Given the description of an element on the screen output the (x, y) to click on. 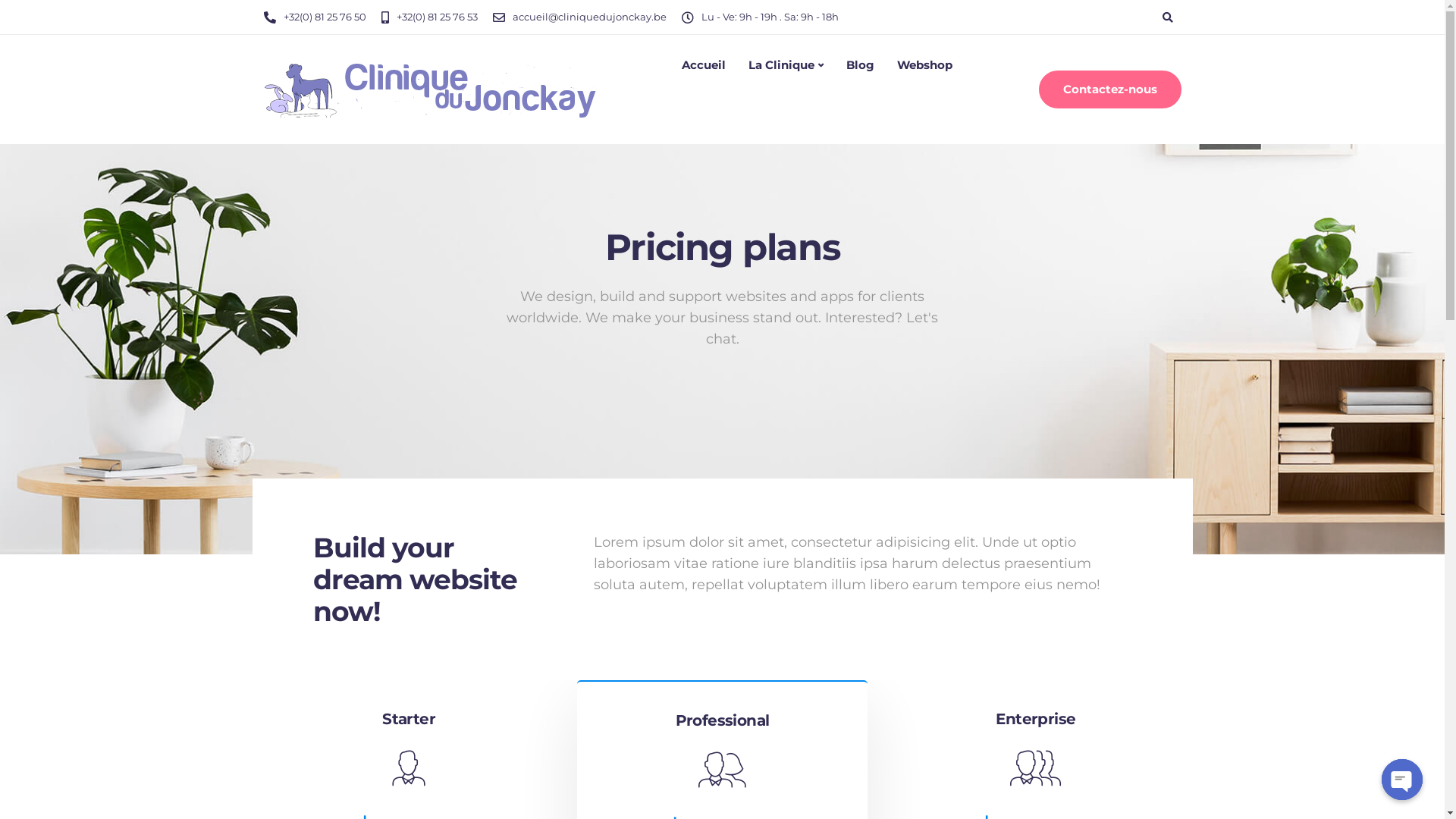
Webshop Element type: text (924, 64)
Accueil Element type: text (703, 64)
+32(0) 81 25 76 53 Element type: text (439, 16)
+32(0) 81 25 76 50 Element type: text (328, 16)
accueil@cliniquedujonckay.be Element type: text (593, 16)
Blog Element type: text (859, 64)
La Clinique Element type: text (785, 64)
Contactez-nous Element type: text (1109, 89)
